Given the description of an element on the screen output the (x, y) to click on. 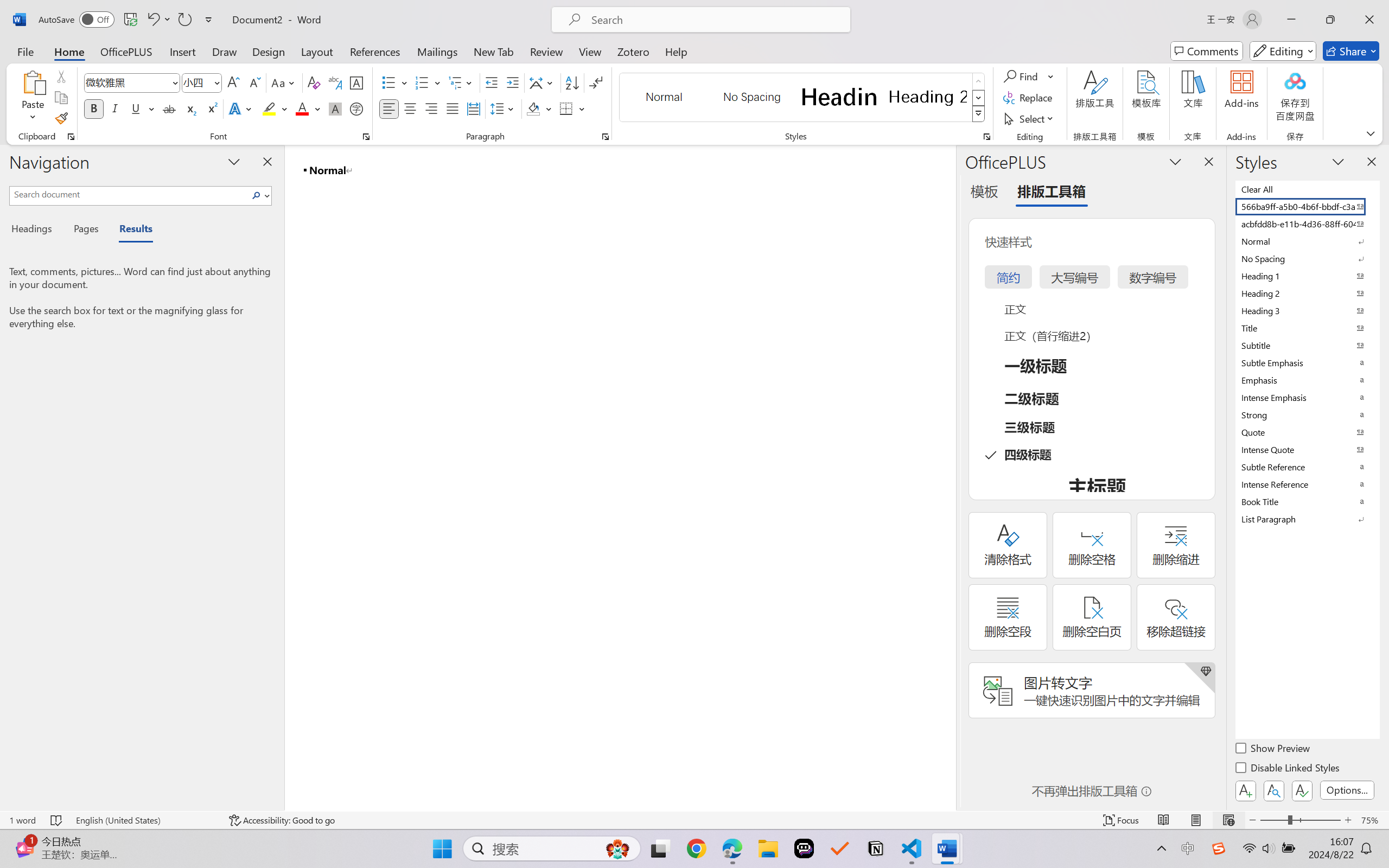
Styles... (986, 136)
Row up (978, 81)
Font Size (201, 82)
Select (1030, 118)
Cut (60, 75)
Underline (135, 108)
Center (409, 108)
Heading 3 (1306, 310)
Intense Reference (1306, 484)
Borders (571, 108)
